Given the description of an element on the screen output the (x, y) to click on. 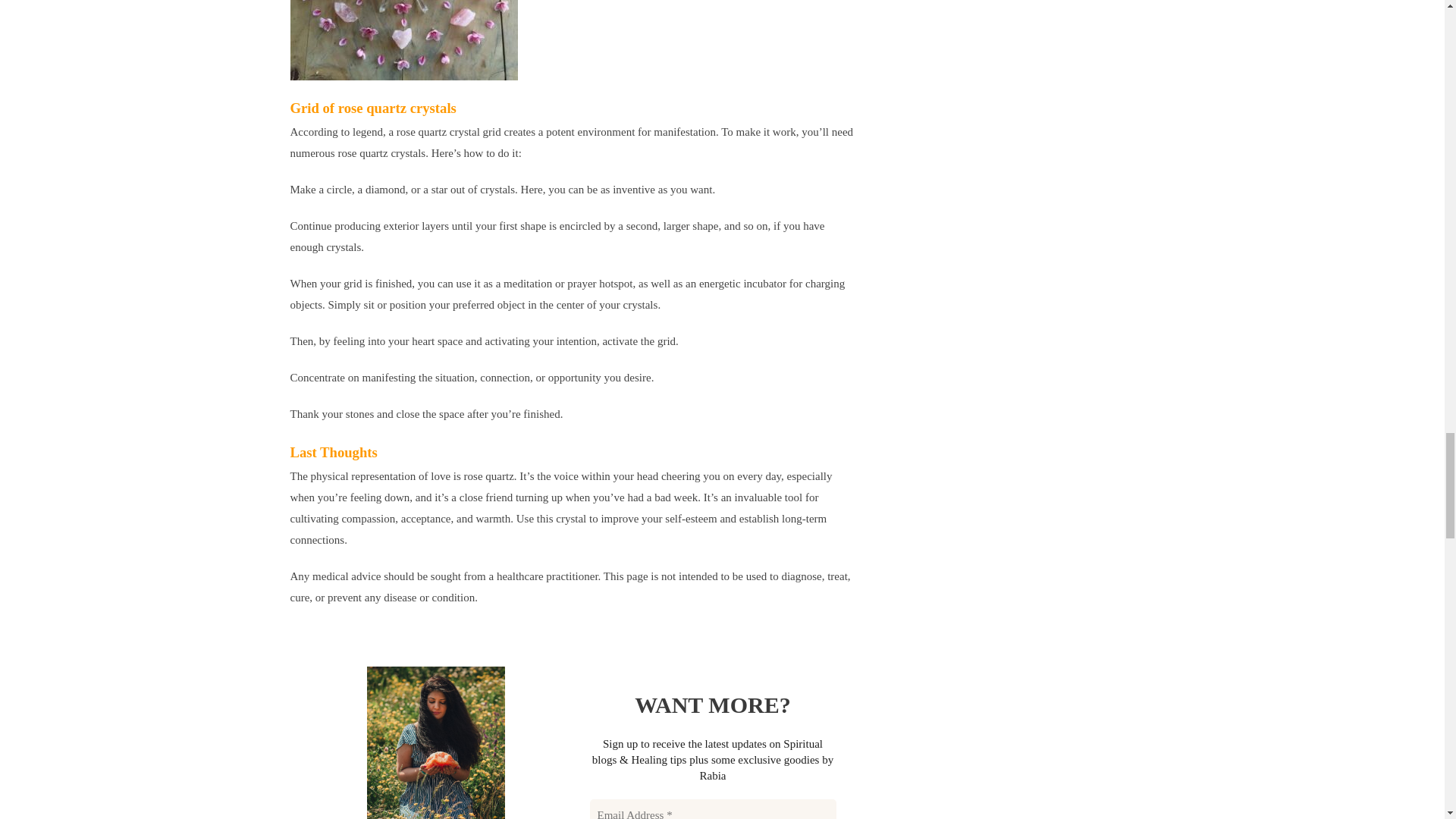
Email Address (712, 809)
